Given the description of an element on the screen output the (x, y) to click on. 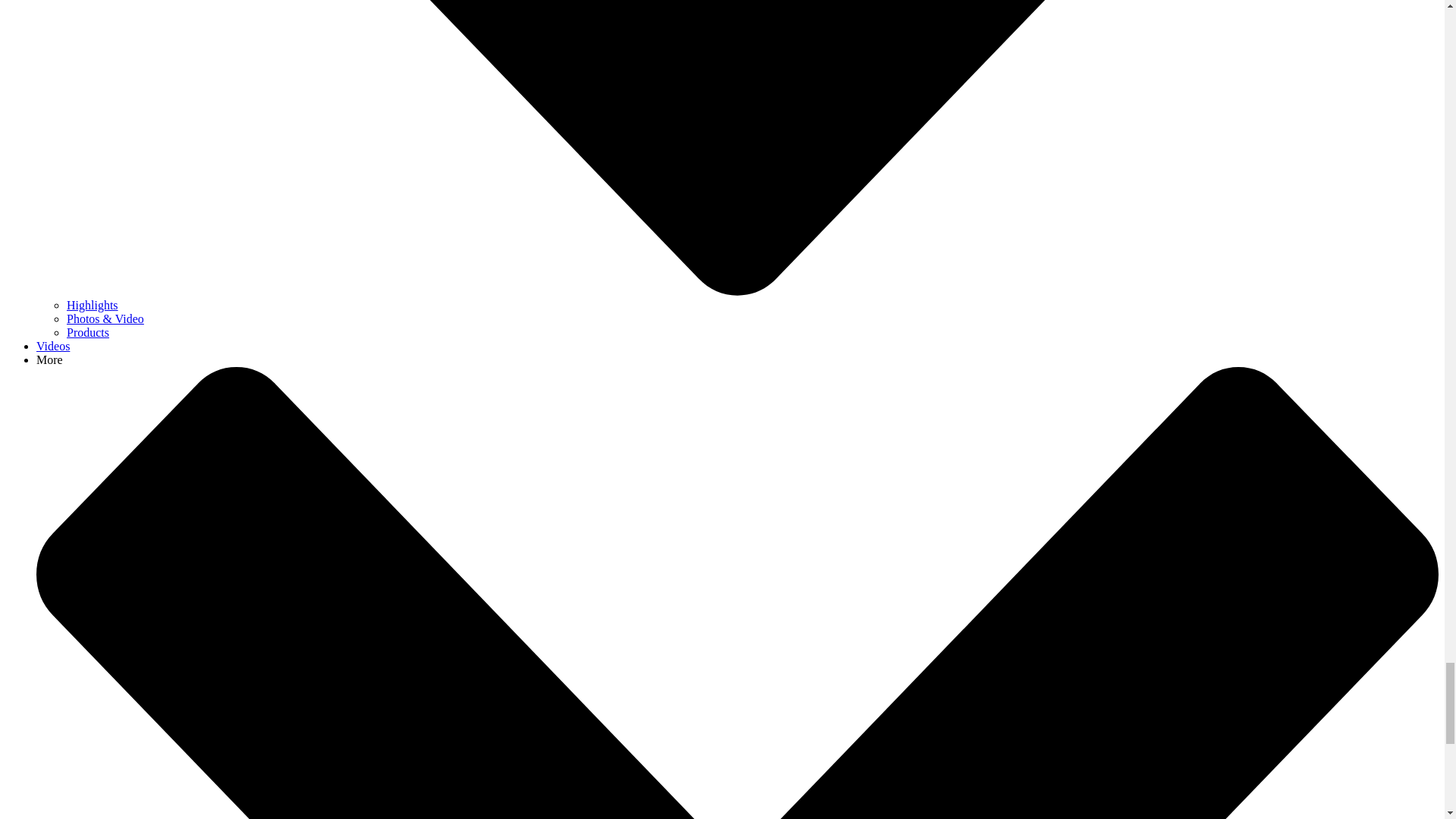
More (49, 359)
Products (87, 332)
Videos (52, 345)
Highlights (91, 305)
